Given the description of an element on the screen output the (x, y) to click on. 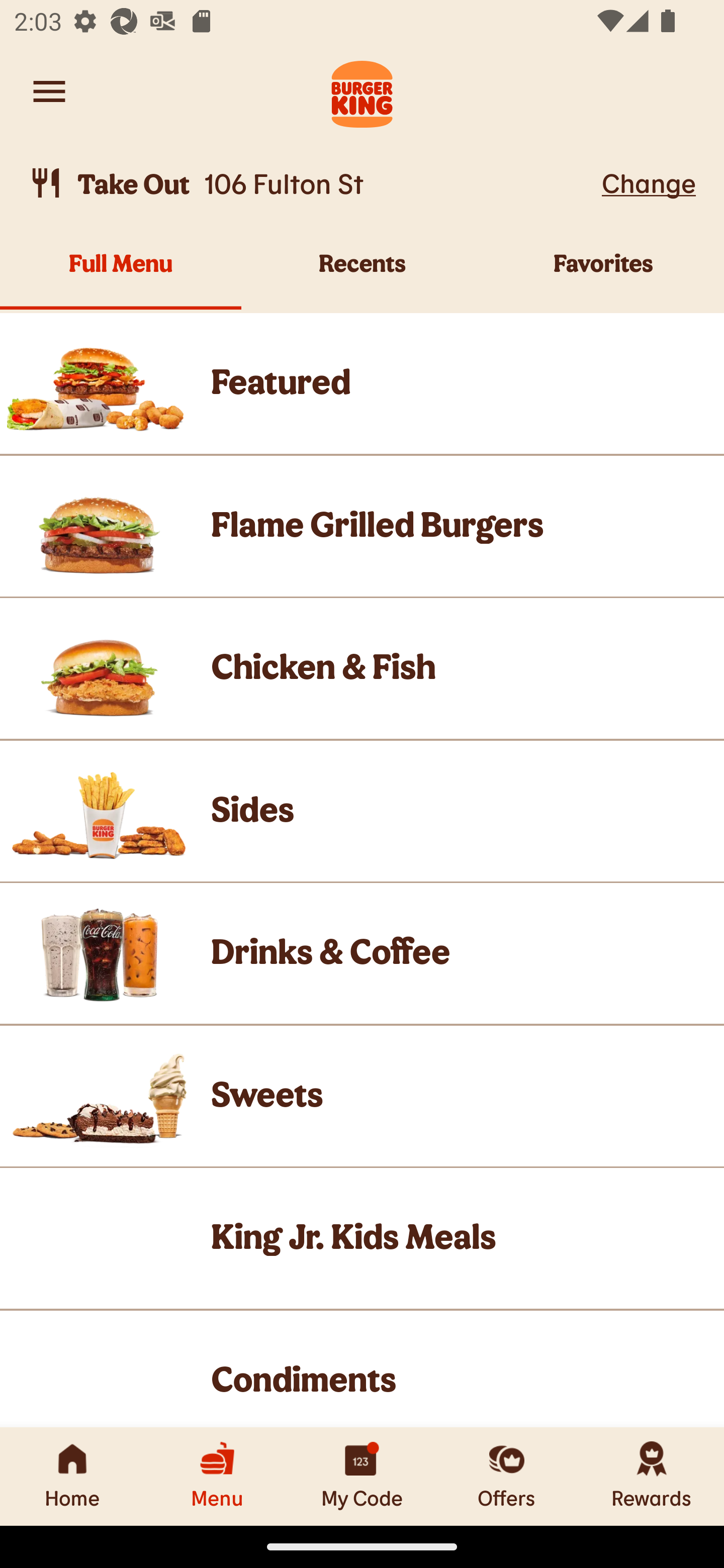
Burger King Logo. Navigate to Home (362, 91)
Navigate to account menu  (49, 91)
Take Out, 106 Fulton St  Take Out 106 Fulton St (311, 183)
Change (648, 182)
Full Menu (120, 273)
Recents (361, 273)
Favorites (603, 273)
Product Image, Featured Product Image Featured (362, 383)
Product Image, Sides Product Image Sides (362, 810)
Product Image, Sweets Product Image Sweets (362, 1095)
Product Image, Condiments Product Image Condiments (362, 1368)
Home (72, 1475)
Menu (216, 1475)
My Code (361, 1475)
Offers (506, 1475)
Rewards (651, 1475)
